Given the description of an element on the screen output the (x, y) to click on. 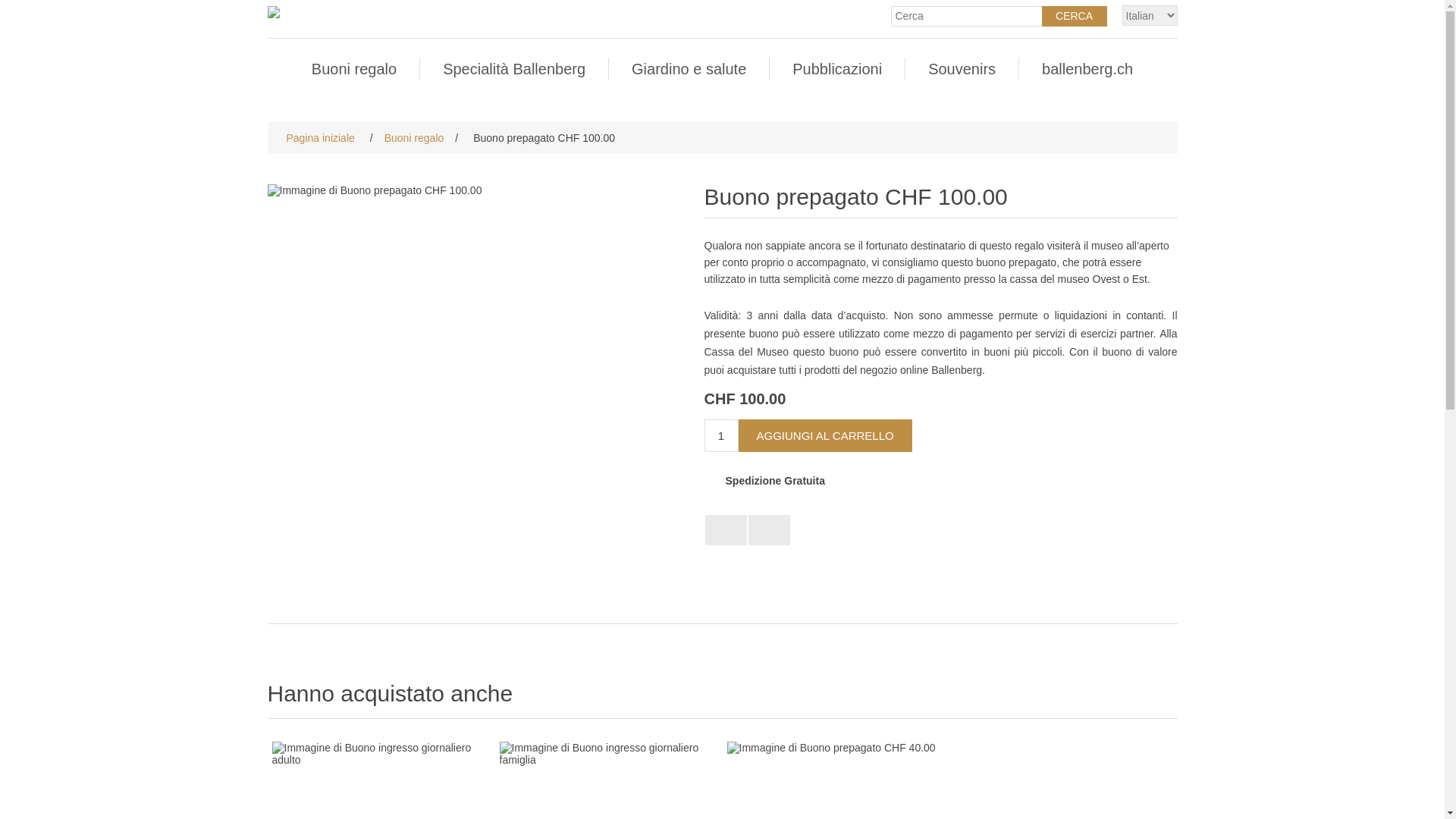
Buoni regalo Element type: text (414, 137)
Ballenberg - Das Erlebnis		 Element type: hover (475, 190)
Souvenirs Element type: text (961, 68)
Buoni regalo Element type: text (354, 68)
Cerca Element type: text (1074, 16)
Pagina iniziale Element type: text (319, 137)
Aggiungi alla lista dei desideri Element type: hover (725, 529)
Pubblicazioni Element type: text (836, 68)
Ballenberg Freilichtmuseum Element type: hover (280, 9)
ballenberg.ch Element type: text (1087, 68)
Giardino e salute Element type: text (688, 68)
Aggiungi al carrello Element type: text (825, 435)
